Given the description of an element on the screen output the (x, y) to click on. 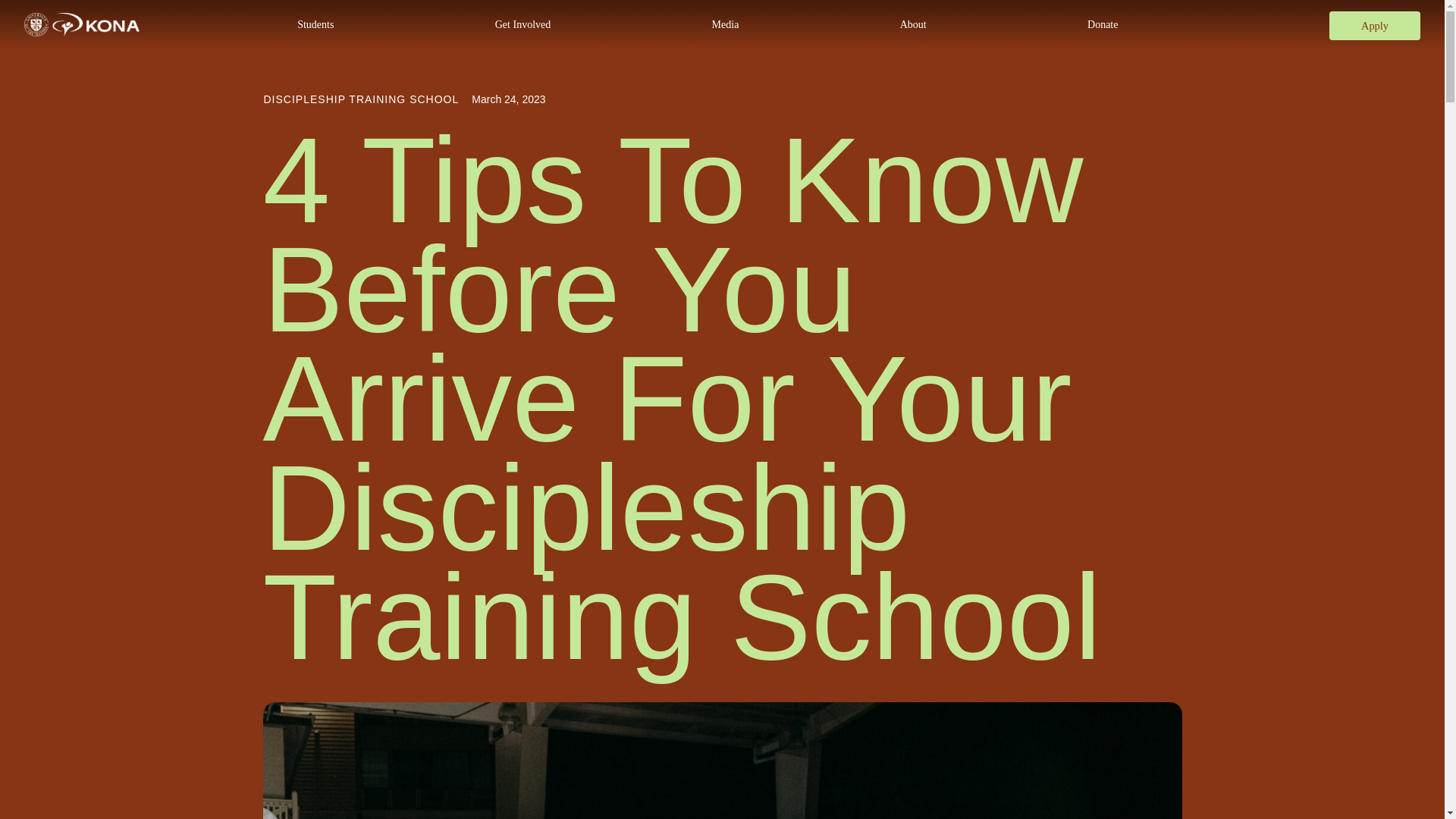
Donate (1102, 24)
Students (315, 24)
Media (724, 24)
Get Involved (522, 24)
About (913, 24)
Apply (1375, 25)
